Given the description of an element on the screen output the (x, y) to click on. 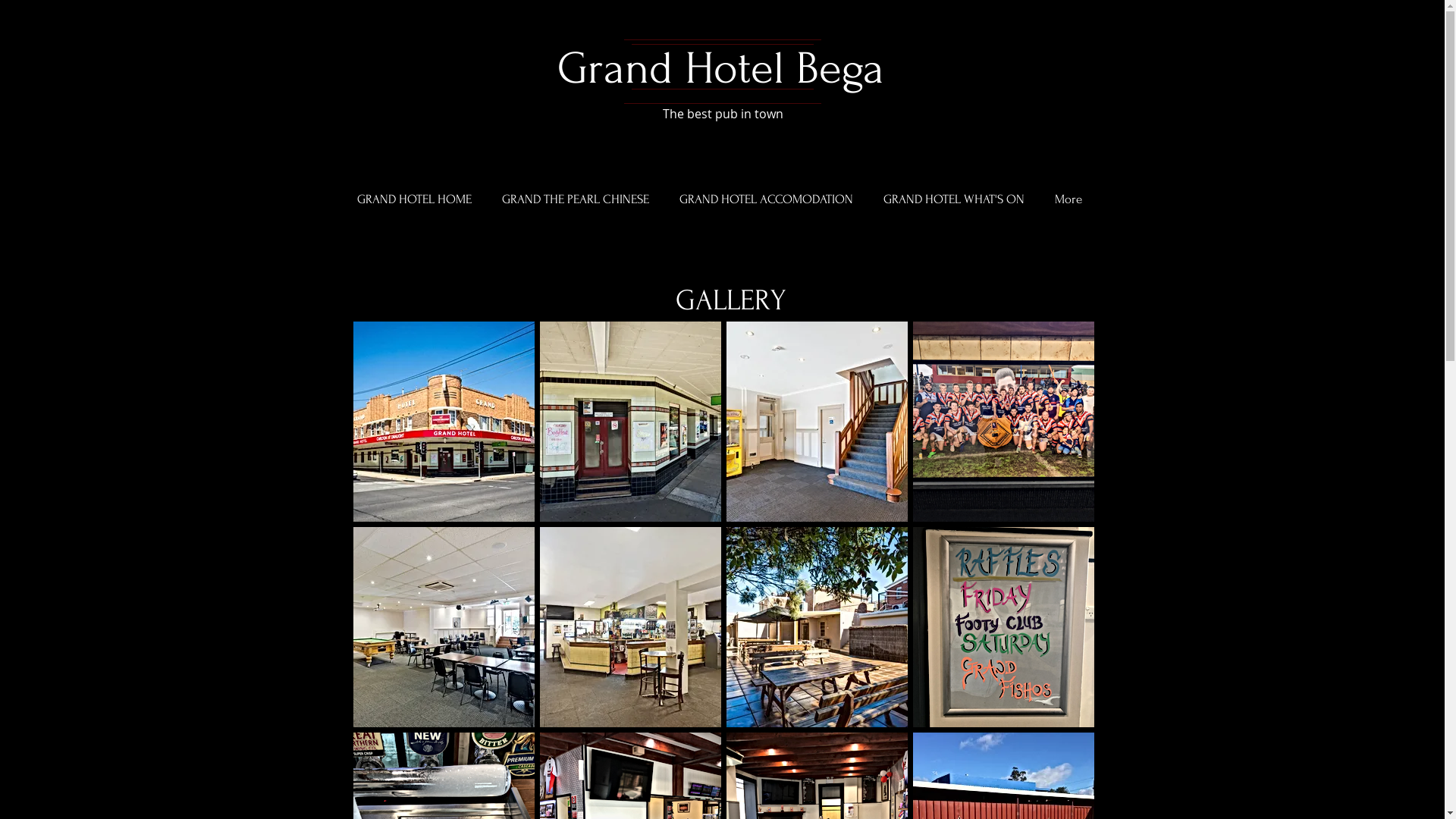
GRAND THE PEARL CHINESE Element type: text (575, 199)
GRAND HOTEL HOME Element type: text (413, 199)
GRAND HOTEL WHAT'S ON Element type: text (952, 199)
GRAND HOTEL ACCOMODATION Element type: text (766, 199)
Grand Hotel Bega Element type: text (719, 68)
